Given the description of an element on the screen output the (x, y) to click on. 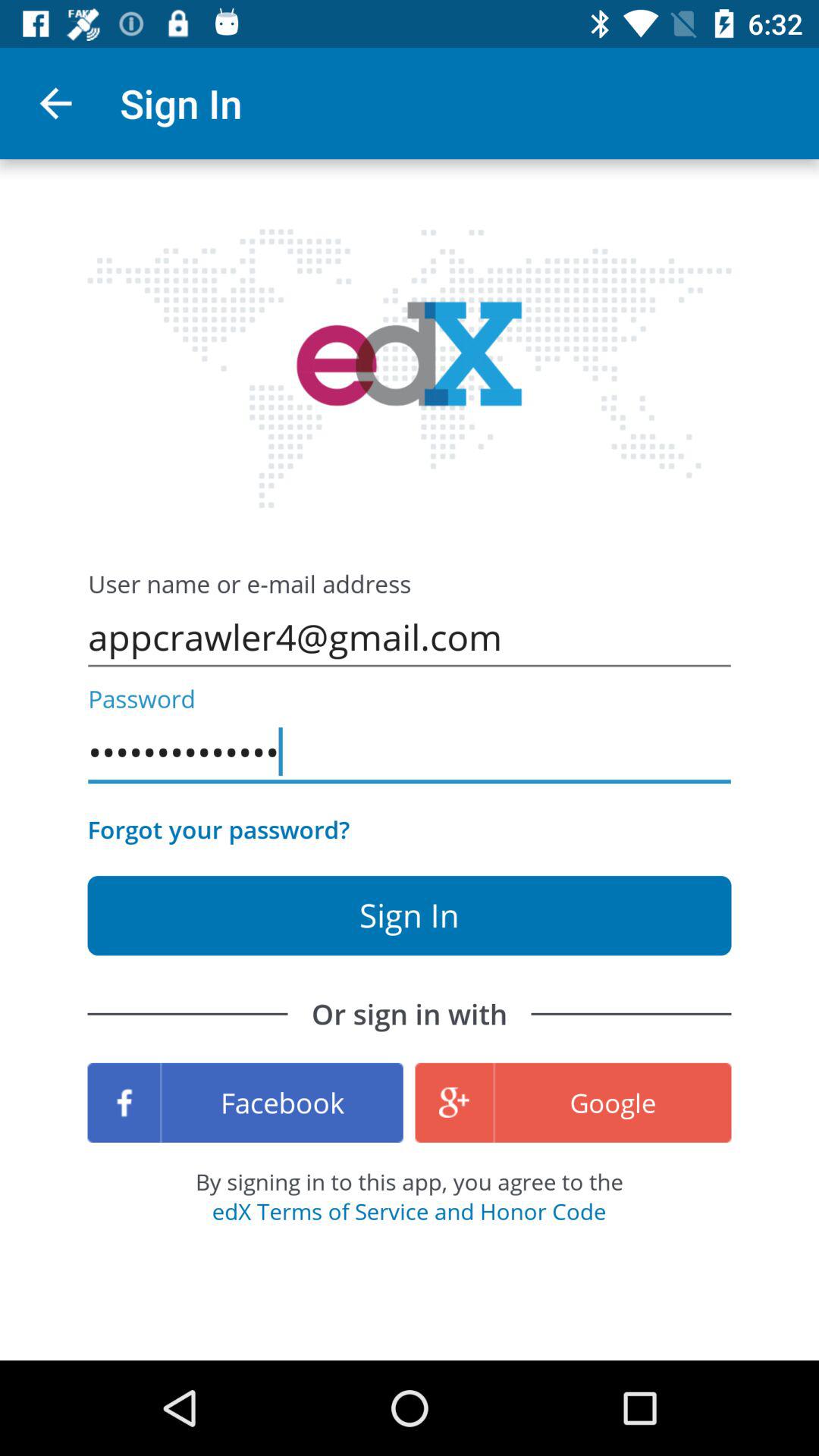
choose the appcrawler3116 (409, 752)
